Given the description of an element on the screen output the (x, y) to click on. 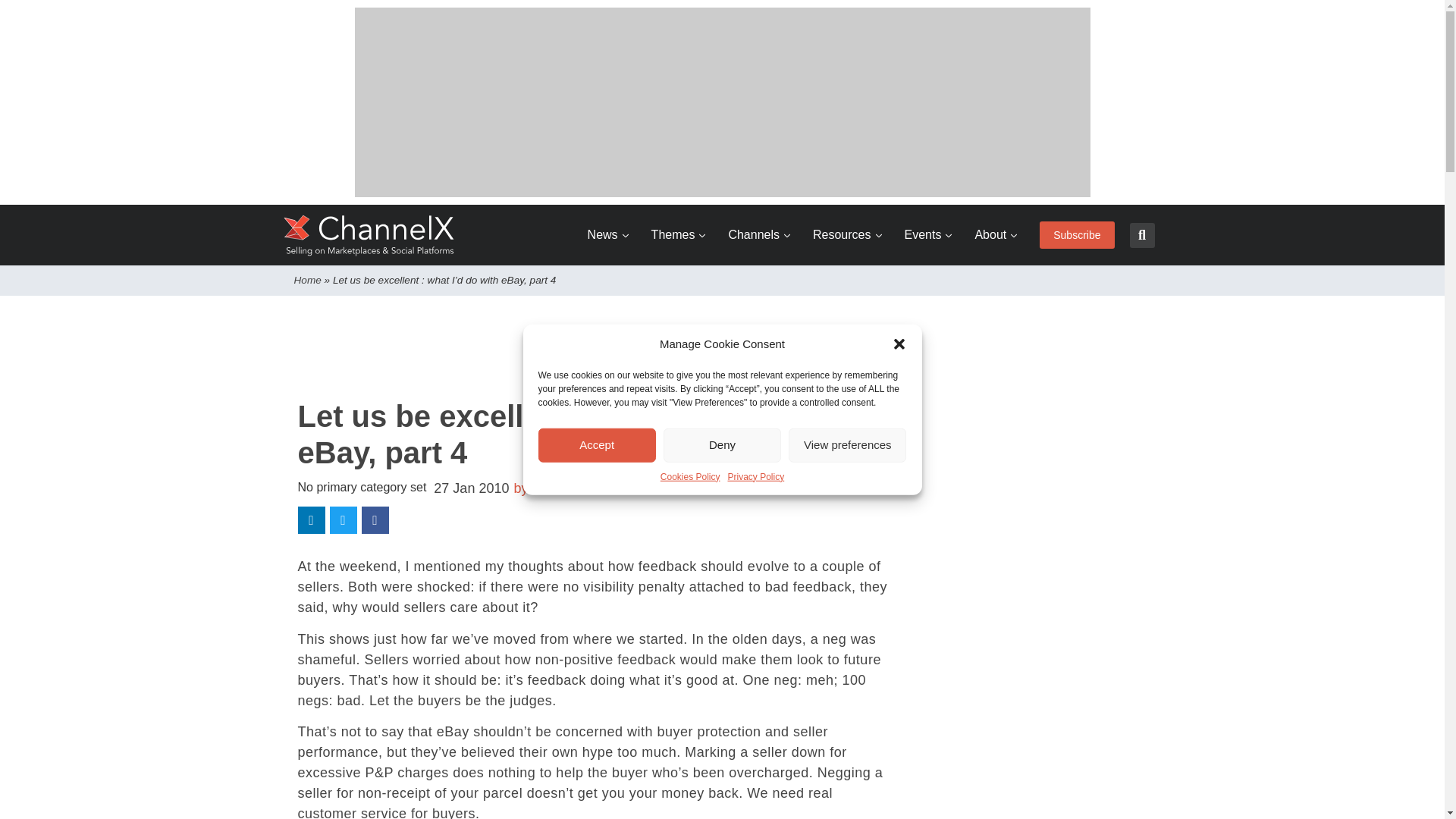
Cookies Policy (690, 476)
ChannelX Home Page (369, 234)
Channels (758, 234)
News (607, 234)
View preferences (847, 444)
Themes (678, 234)
Accept (597, 444)
Privacy Policy (756, 476)
Deny (721, 444)
